Given the description of an element on the screen output the (x, y) to click on. 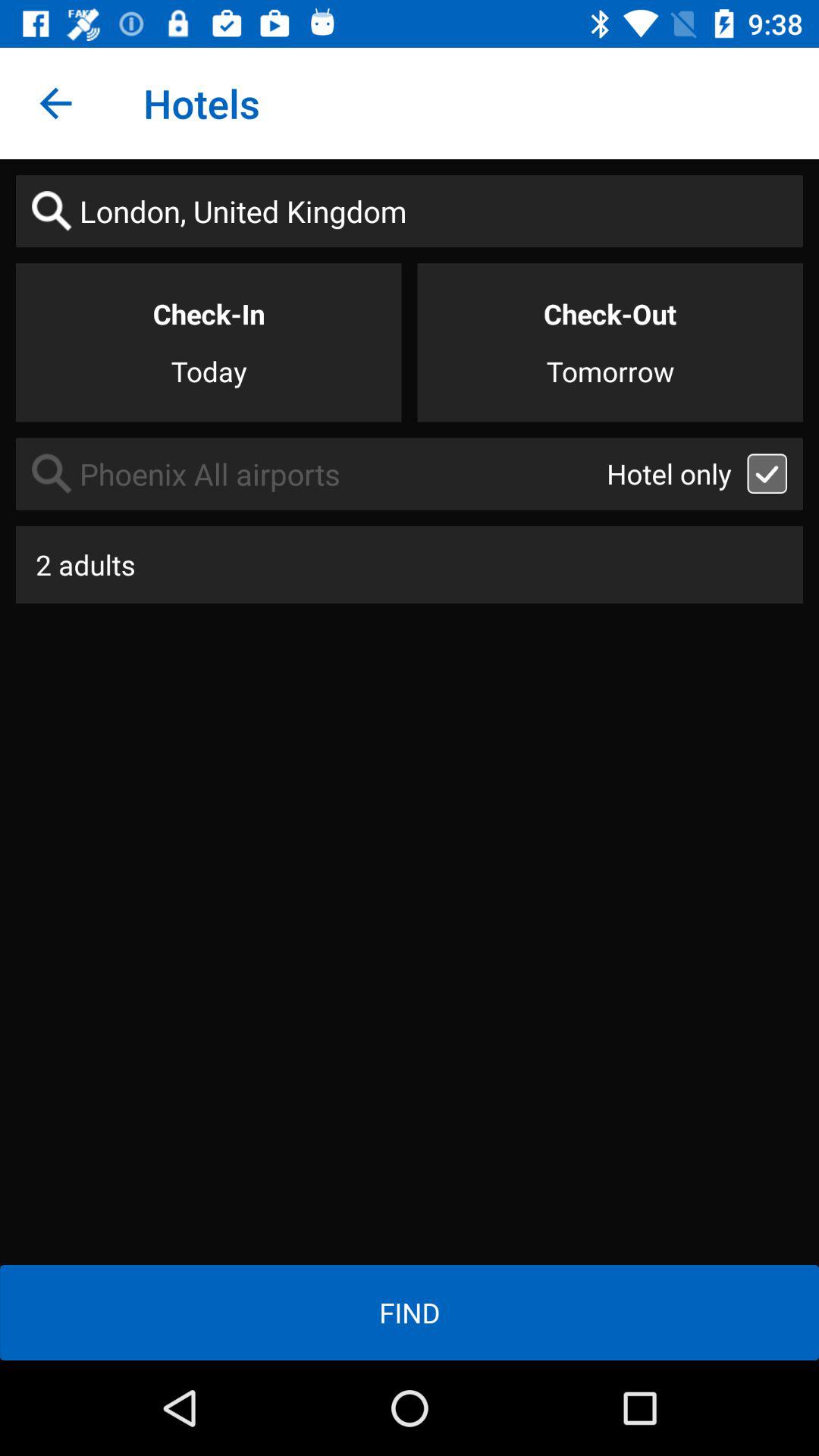
tap the icon to the left of hotels (55, 103)
